Given the description of an element on the screen output the (x, y) to click on. 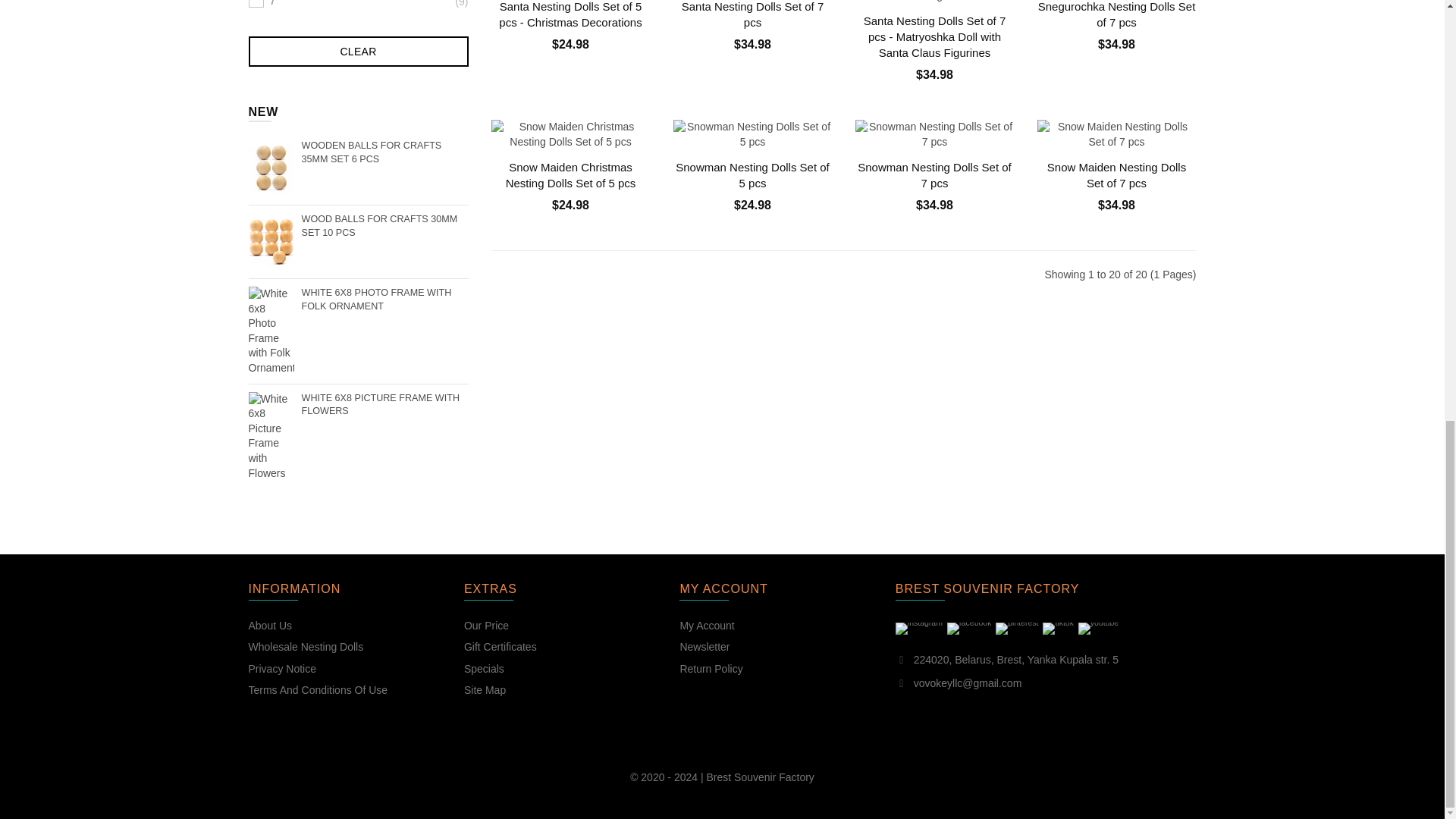
Clear (358, 51)
